Given the description of an element on the screen output the (x, y) to click on. 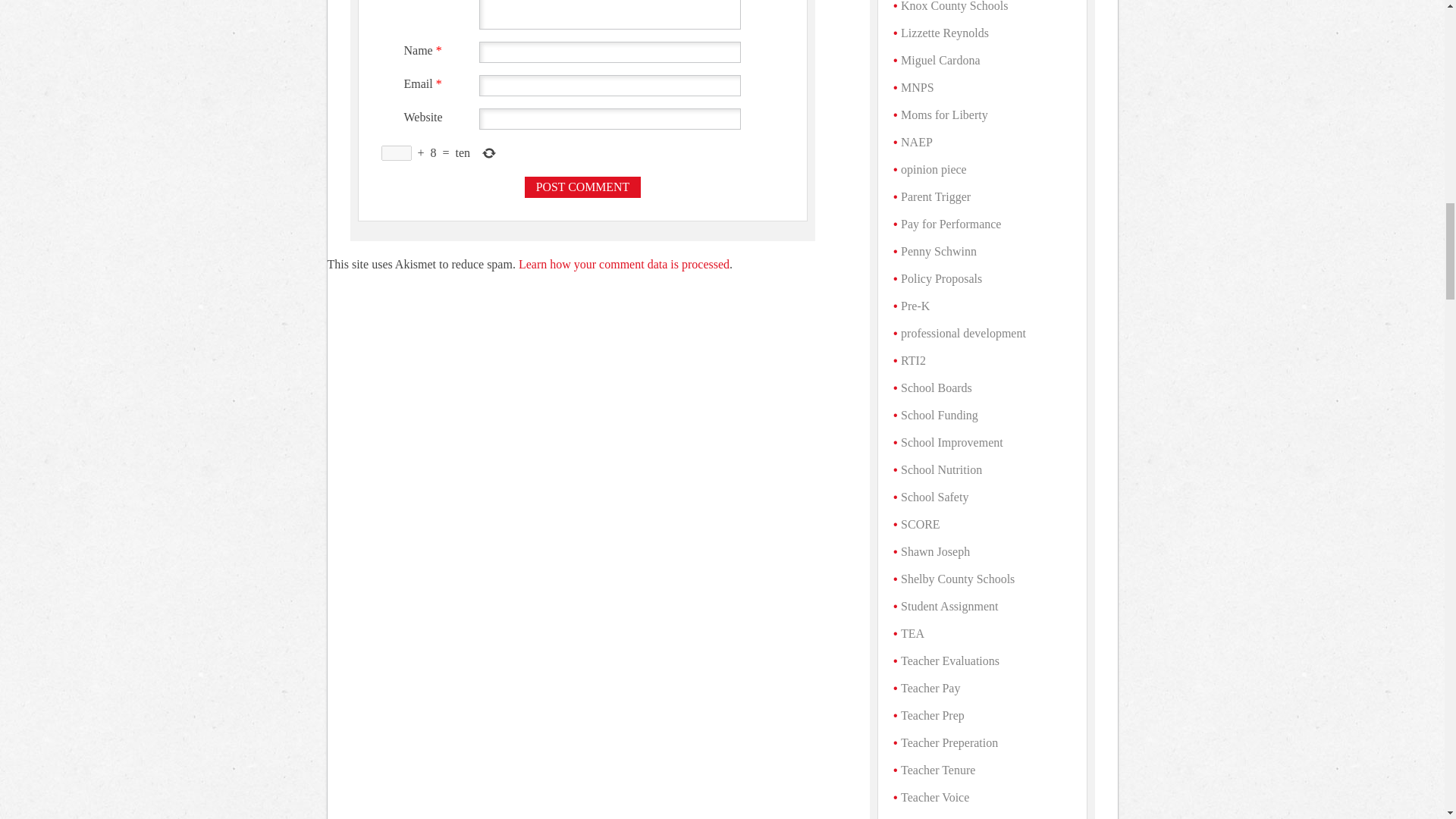
Post Comment (582, 187)
Learn how your comment data is processed (623, 264)
Post Comment (582, 187)
